Given the description of an element on the screen output the (x, y) to click on. 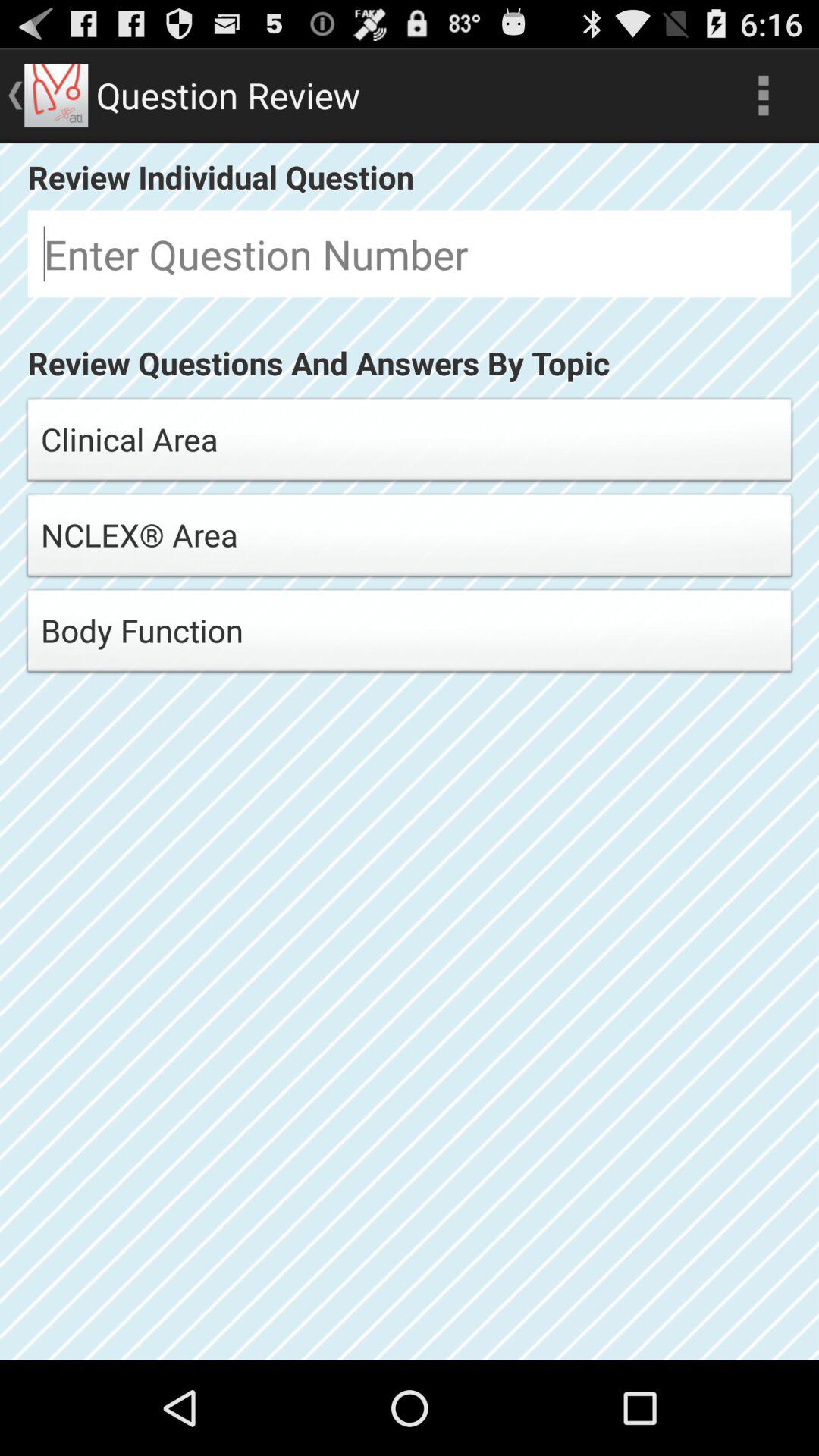
enter question number to review (409, 253)
